Given the description of an element on the screen output the (x, y) to click on. 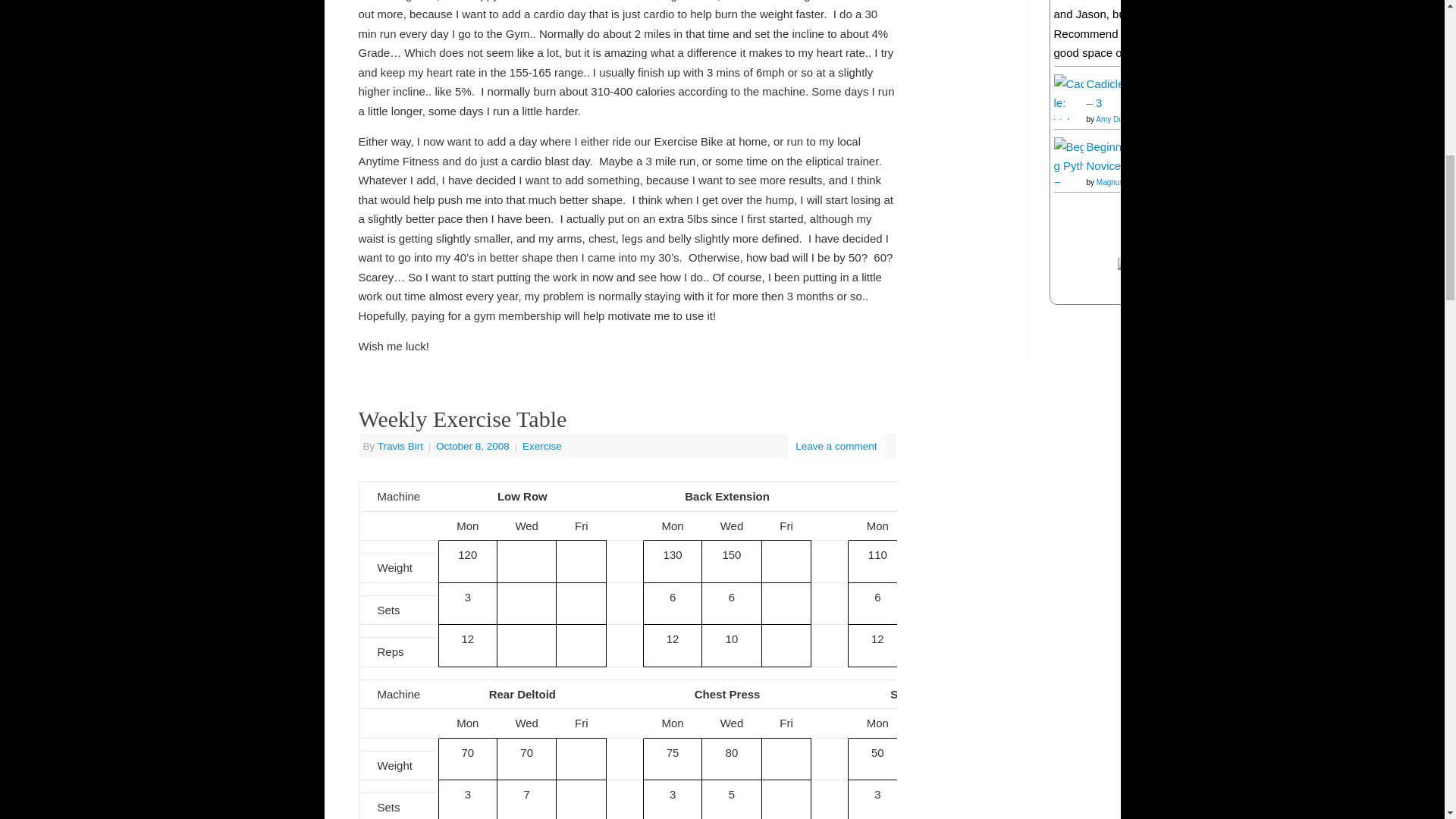
Weekly Exercise Table (462, 418)
Exercise (542, 446)
View all posts by Travis Birt (400, 446)
5:23 pm (473, 446)
October 8, 2008 (473, 446)
Leave a comment (835, 446)
Permalink to Weekly Exercise Table (462, 418)
Travis Birt (400, 446)
